Given the description of an element on the screen output the (x, y) to click on. 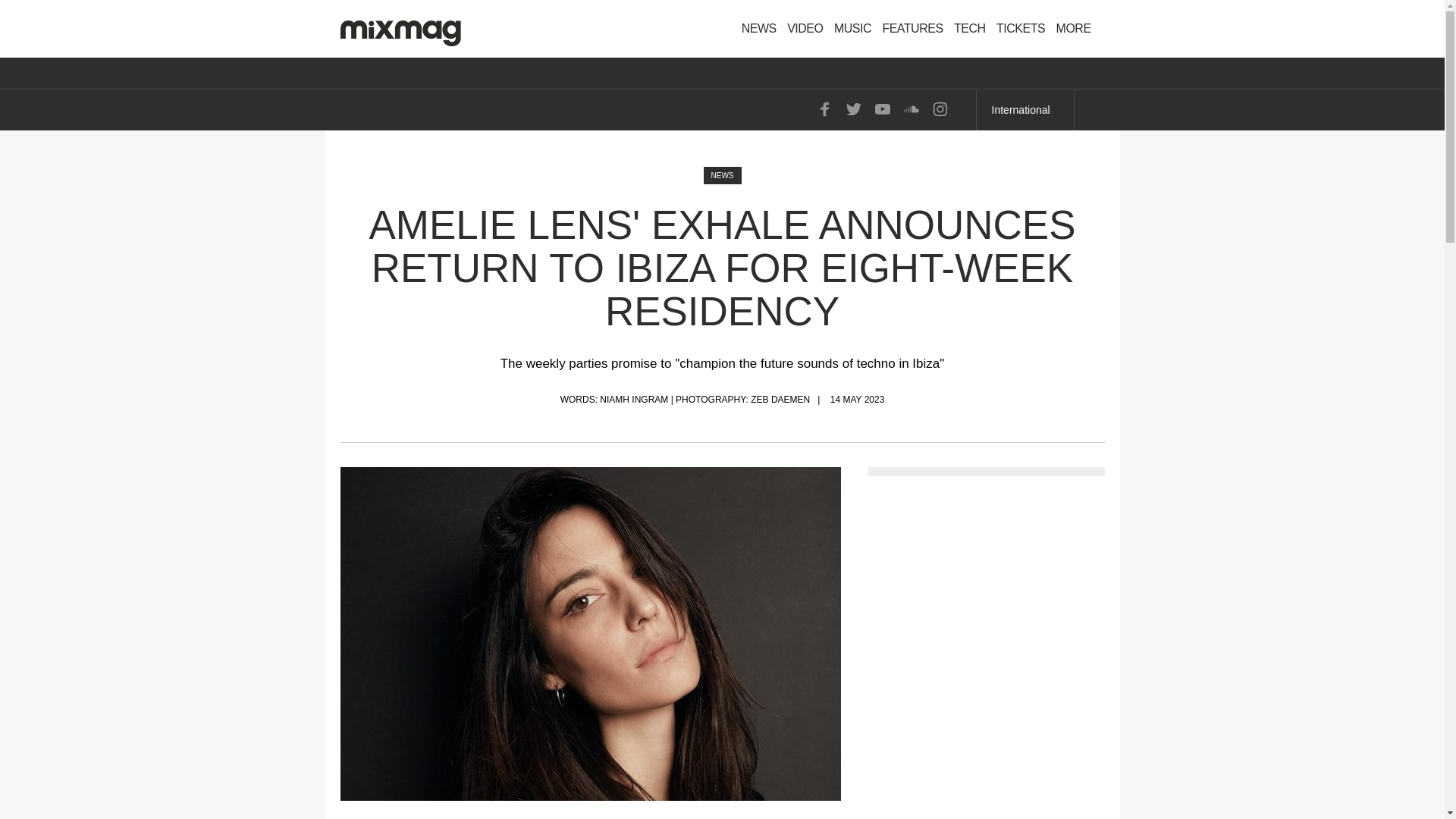
MORE (1078, 28)
FEATURES (911, 28)
TICKETS (1020, 28)
